Given the description of an element on the screen output the (x, y) to click on. 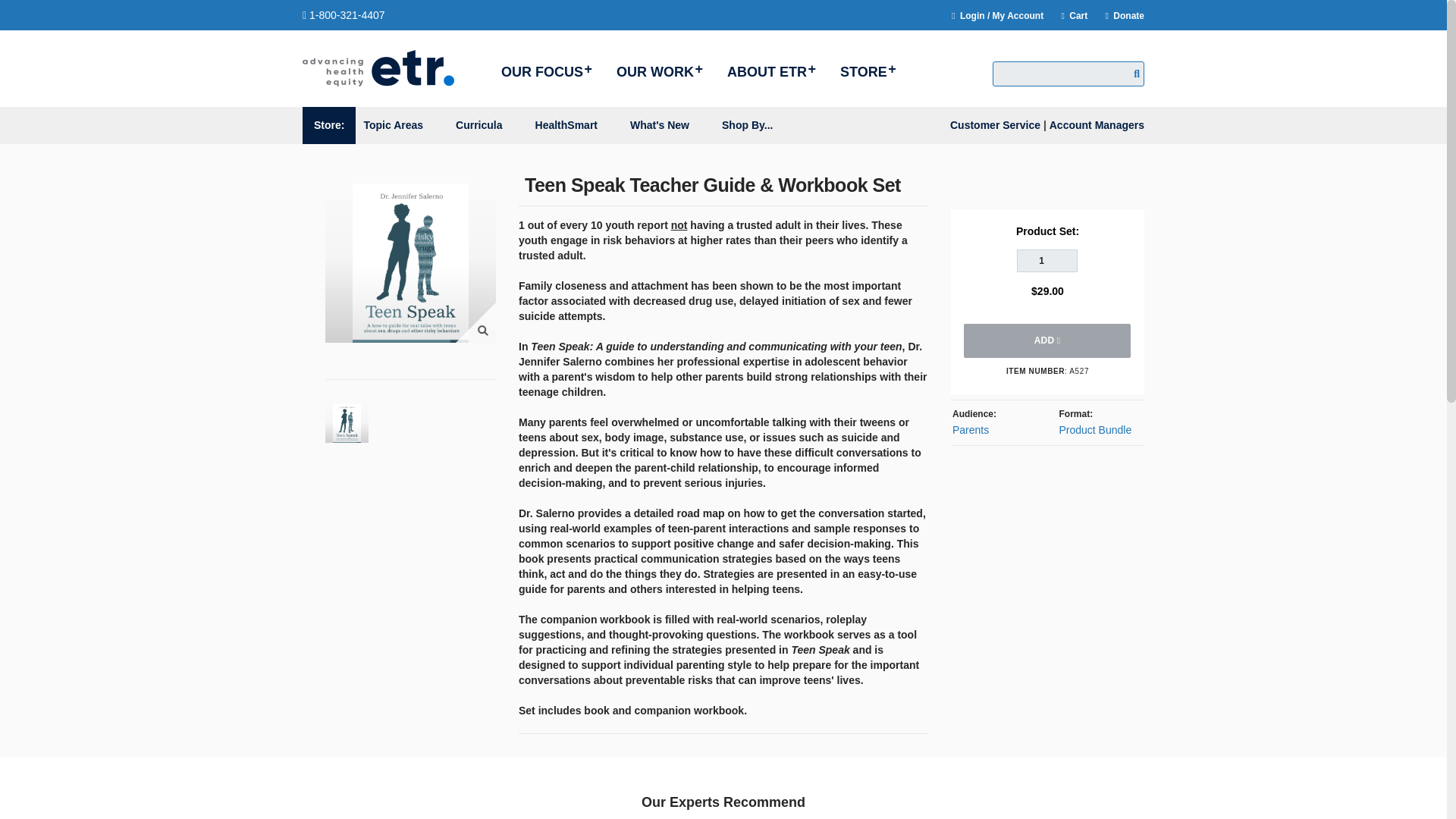
OUR WORK (657, 71)
Cart (1068, 15)
1-800-321-4407 (343, 14)
OUR FOCUS (545, 71)
STORE (866, 71)
Search this site (1068, 73)
Donate (1117, 15)
1 (1046, 260)
ABOUT ETR (770, 71)
